Given the description of an element on the screen output the (x, y) to click on. 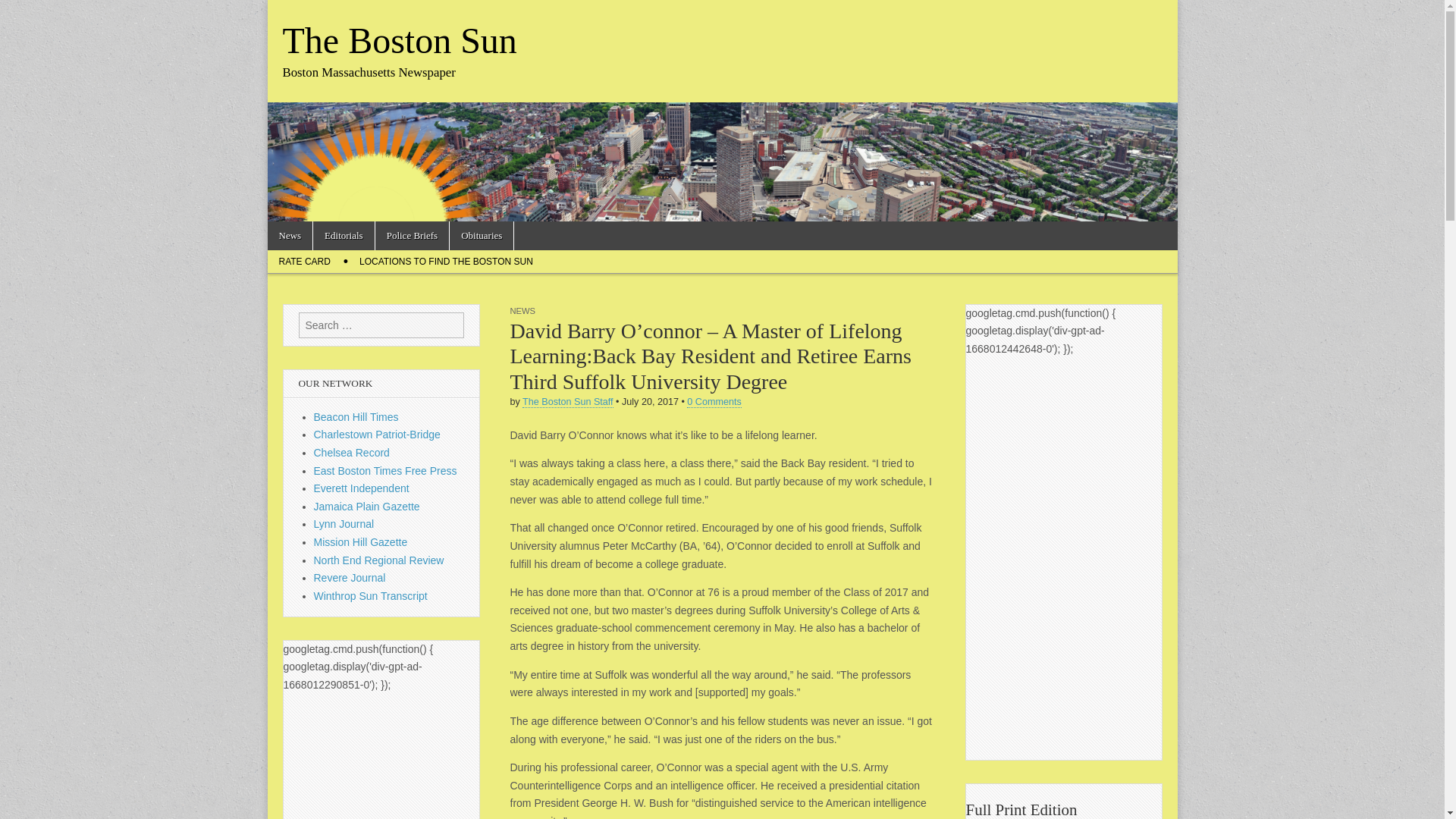
Lynn Journal (344, 523)
Posts by The Boston Sun Staff (567, 401)
Obituaries (481, 235)
News (289, 235)
Winthrop Sun Transcript (371, 595)
The Boston Sun (399, 40)
RATE CARD (303, 261)
Search (23, 12)
Everett Independent (361, 488)
